Given the description of an element on the screen output the (x, y) to click on. 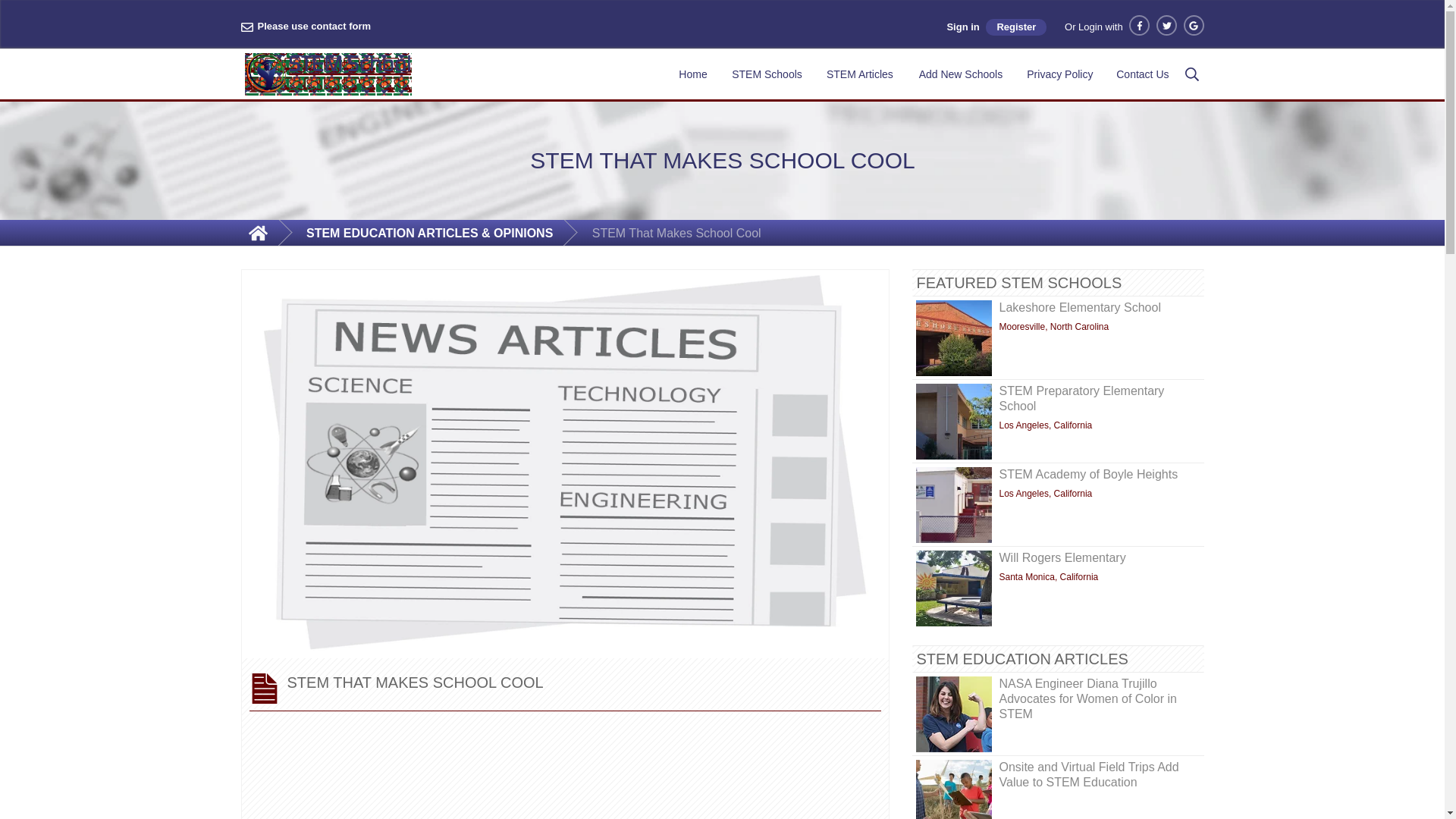
STEM School Header Logo (265, 74)
Onsite and Virtual Field Trips Add Value to STEM Education (953, 789)
Contact Us (1142, 74)
STEM Academy of Boyle Heights (953, 504)
Please use contact form (306, 27)
Add New Schools (961, 74)
Will Rogers Elementary (1061, 557)
Home (691, 74)
Lakeshore Elementary School (953, 337)
STEM Preparatory Elementary School (953, 421)
STEM Articles (859, 74)
Register (1015, 27)
Sign in (962, 27)
STEM Preparatory Elementary School (1081, 398)
